Given the description of an element on the screen output the (x, y) to click on. 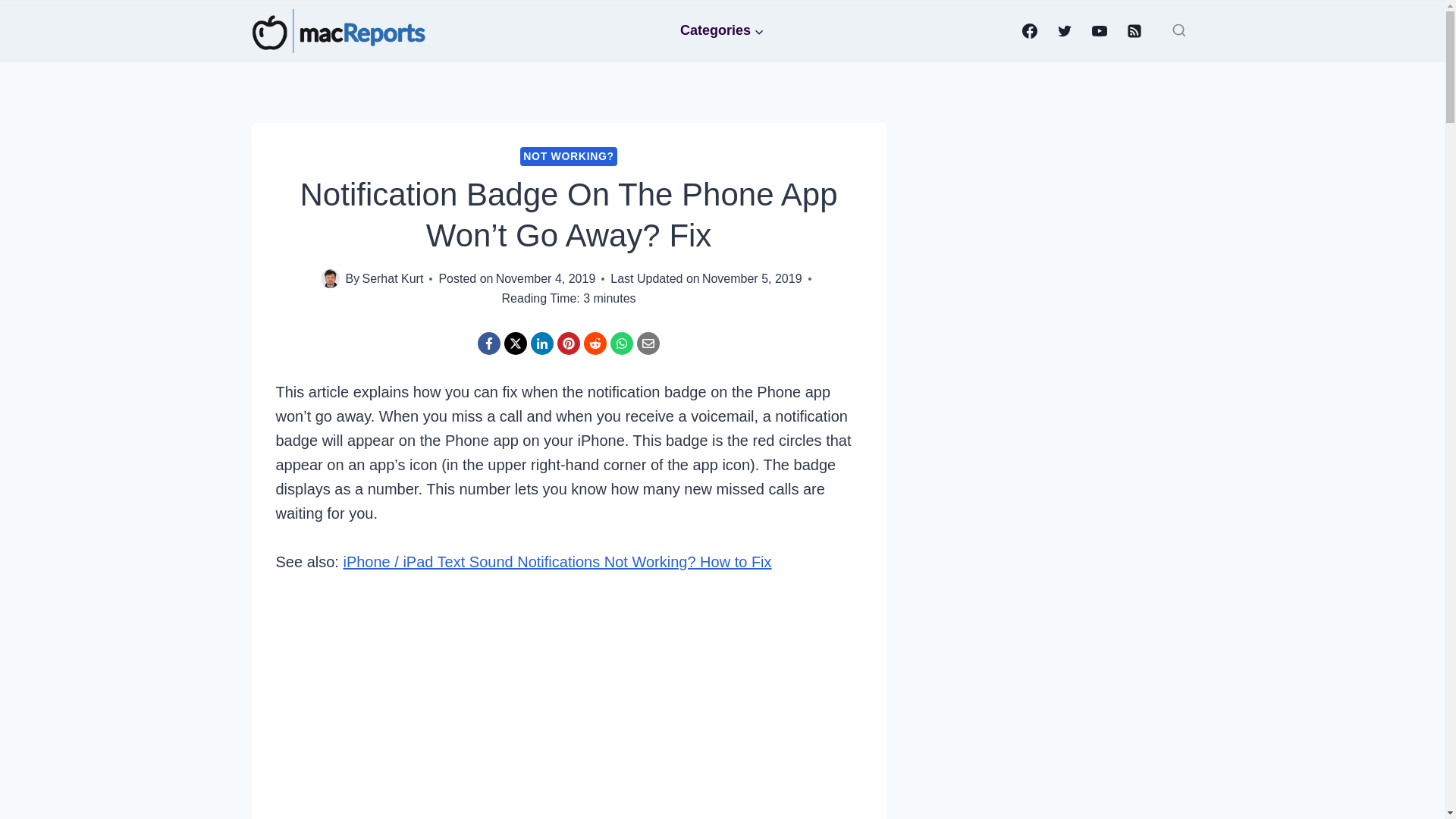
Serhat Kurt (392, 278)
Categories (722, 30)
NOT WORKING? (568, 156)
